Given the description of an element on the screen output the (x, y) to click on. 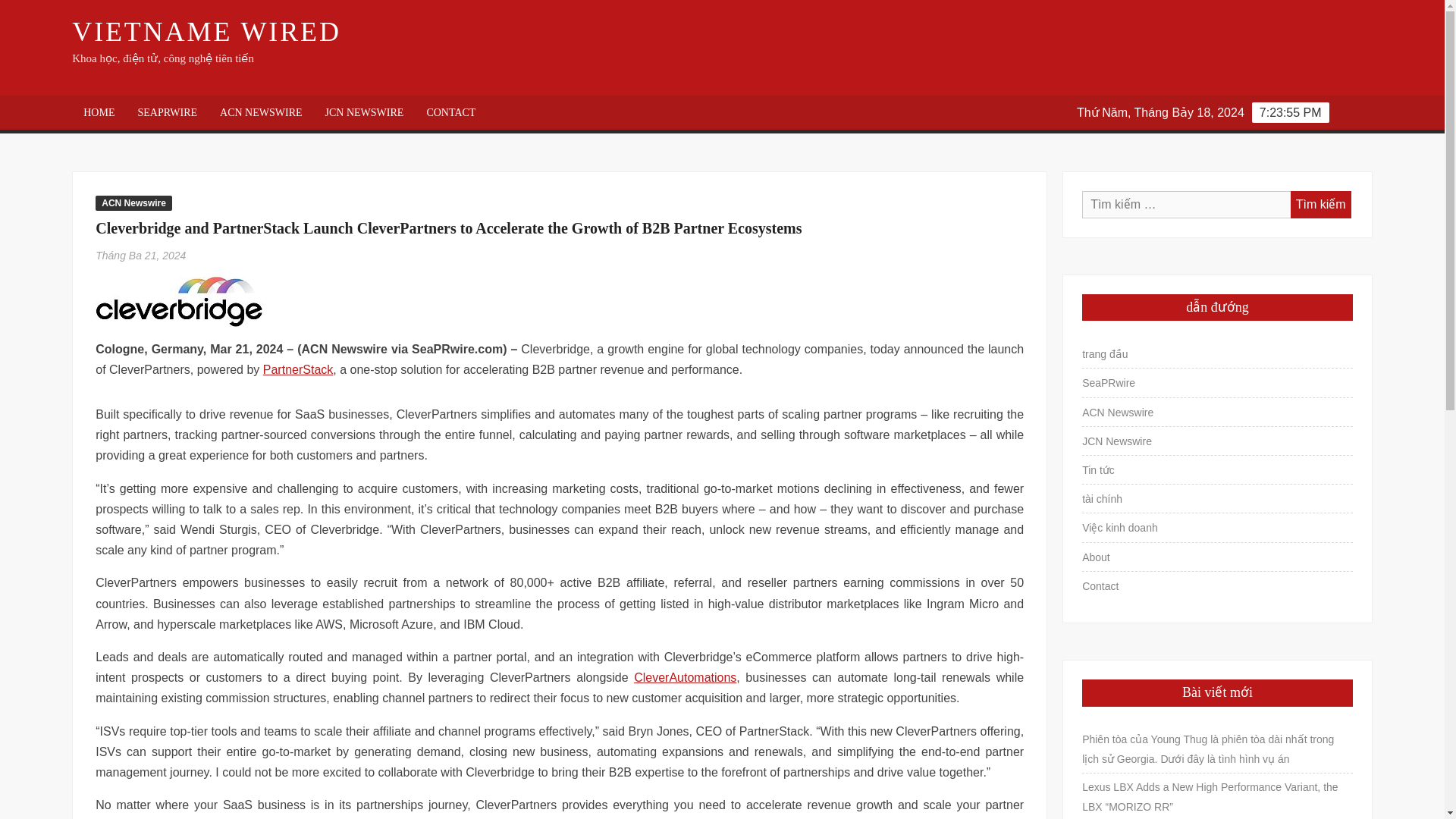
CleverAutomations (684, 676)
SeaPRwire (1108, 383)
VIETNAME WIRED (205, 31)
SEAPRWIRE (166, 112)
About (1095, 557)
HOME (98, 112)
CONTACT (450, 112)
JCN NEWSWIRE (364, 112)
ACN Newswire (1117, 412)
ACN Newswire (133, 202)
ACN NEWSWIRE (261, 112)
JCN Newswire (1116, 441)
PartnerStack (298, 369)
Contact (1099, 586)
